Given the description of an element on the screen output the (x, y) to click on. 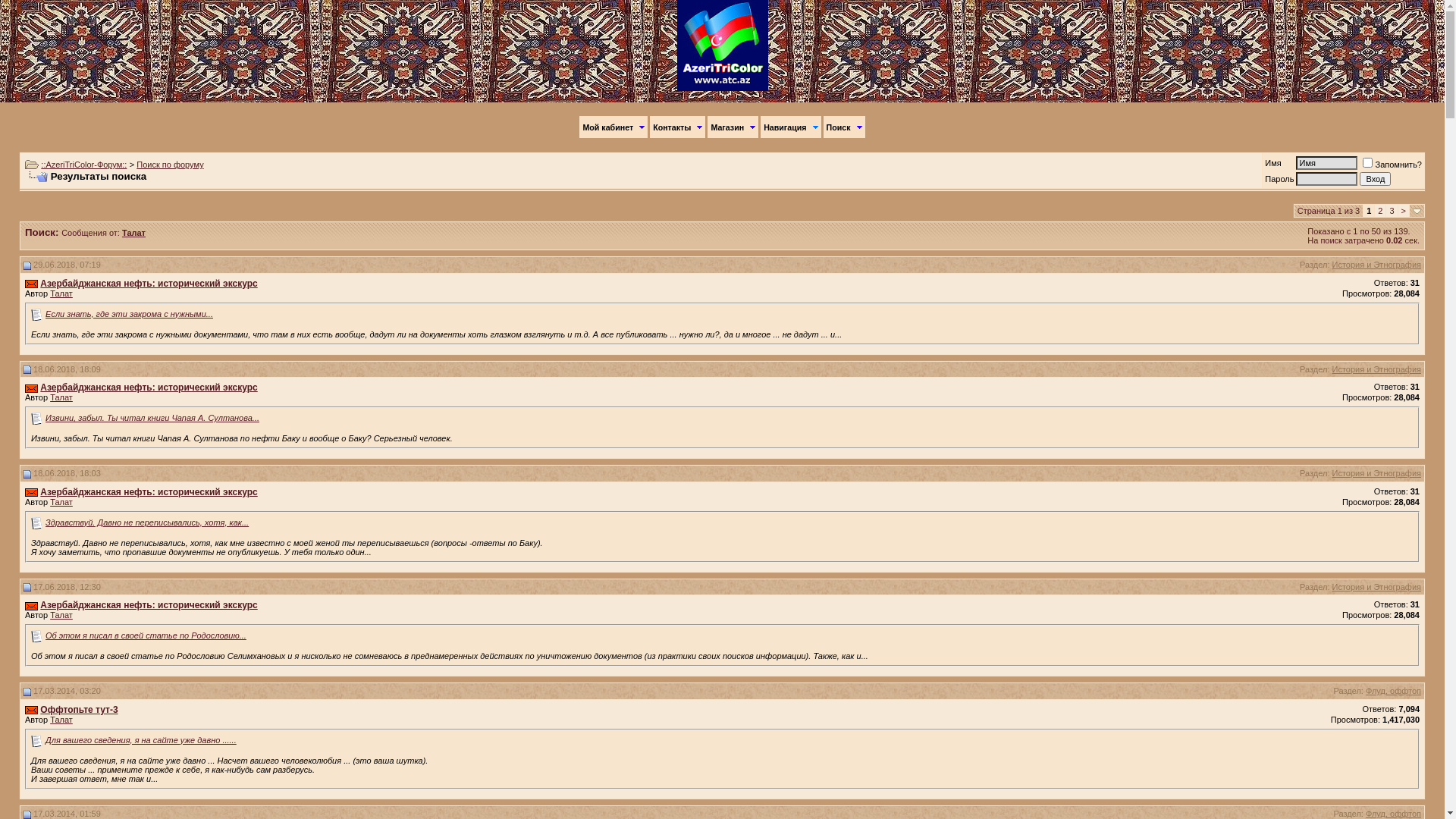
> Element type: text (1403, 210)
2 Element type: text (1379, 210)
3 Element type: text (1391, 210)
